Given the description of an element on the screen output the (x, y) to click on. 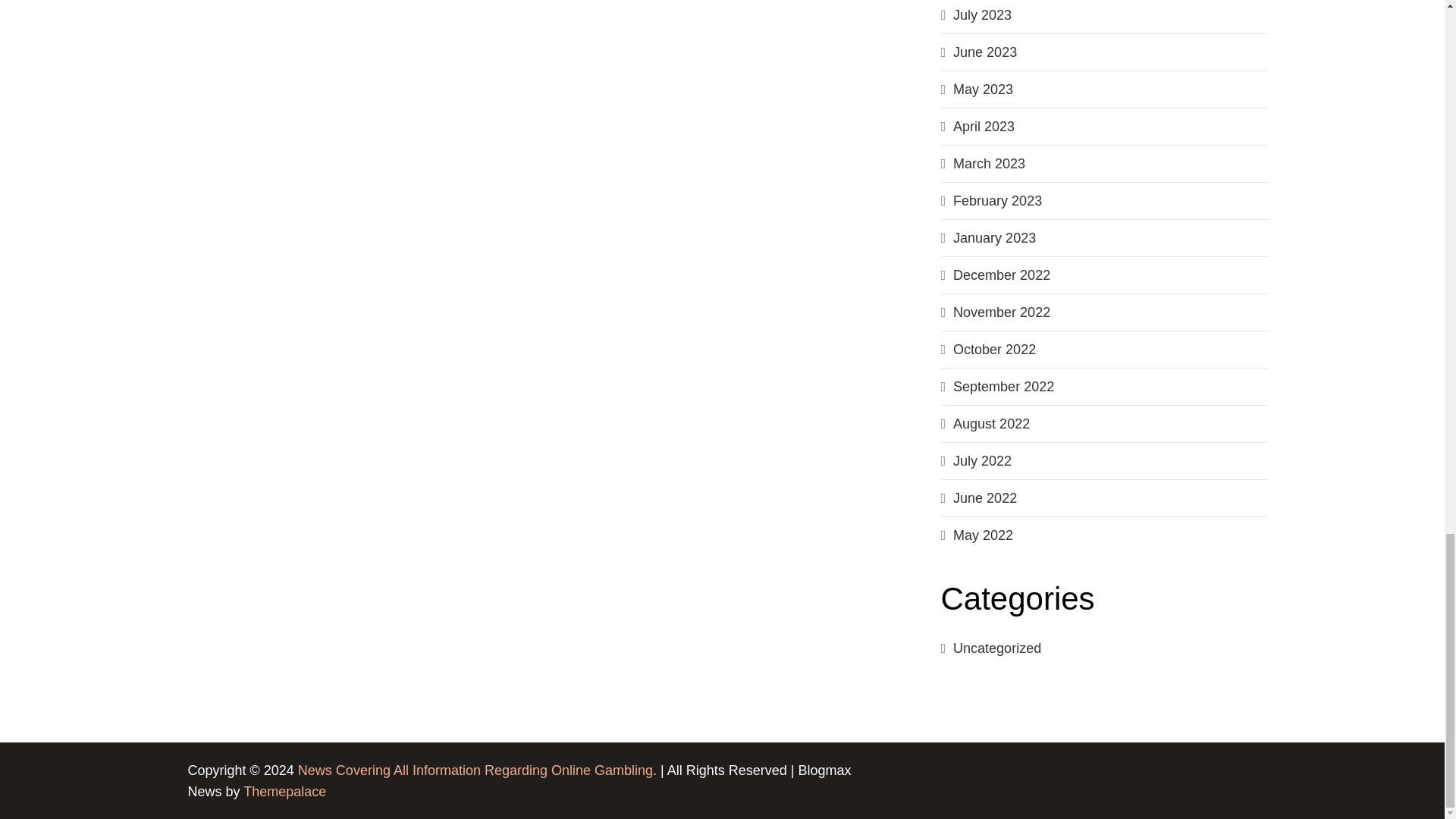
April 2023 (983, 126)
February 2023 (997, 200)
March 2023 (989, 163)
July 2023 (982, 14)
December 2022 (1001, 274)
November 2022 (1001, 312)
May 2023 (983, 89)
January 2023 (994, 237)
June 2023 (984, 52)
